Given the description of an element on the screen output the (x, y) to click on. 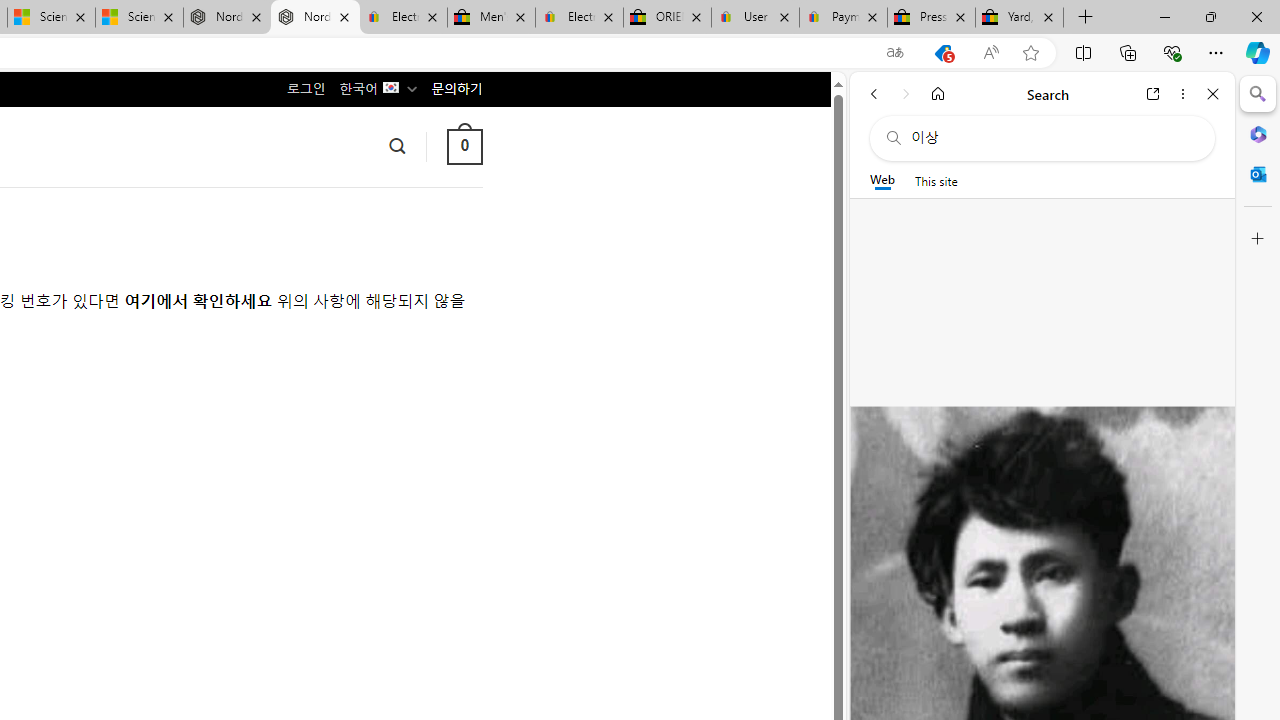
Show translate options (895, 53)
Forward (906, 93)
Web scope (882, 180)
User Privacy Notice | eBay (754, 17)
Payments Terms of Use | eBay.com (843, 17)
